Given the description of an element on the screen output the (x, y) to click on. 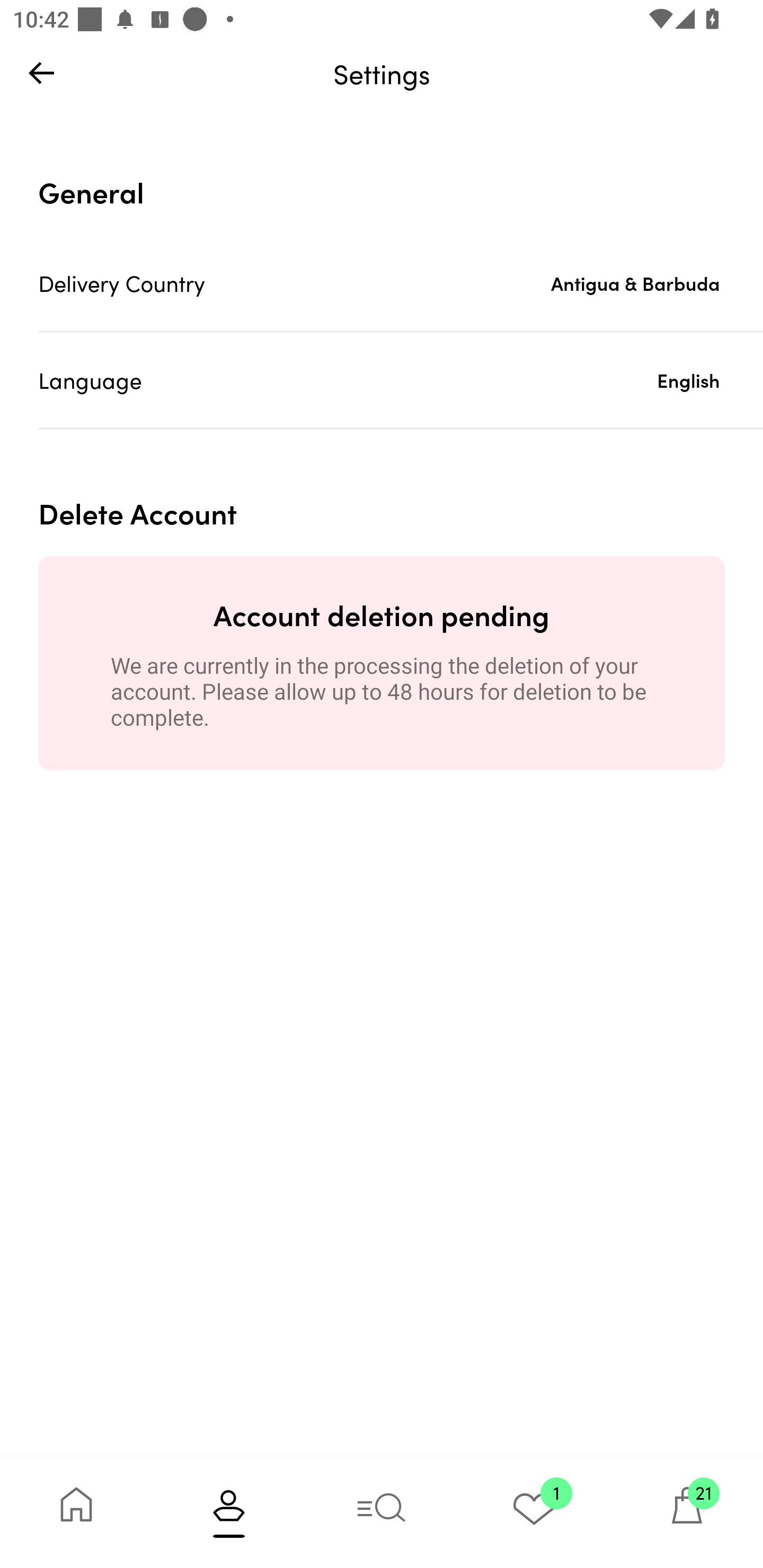
Delivery Country Antigua & Barbuda (400, 282)
Language English (400, 380)
1 (533, 1512)
21 (686, 1512)
